Given the description of an element on the screen output the (x, y) to click on. 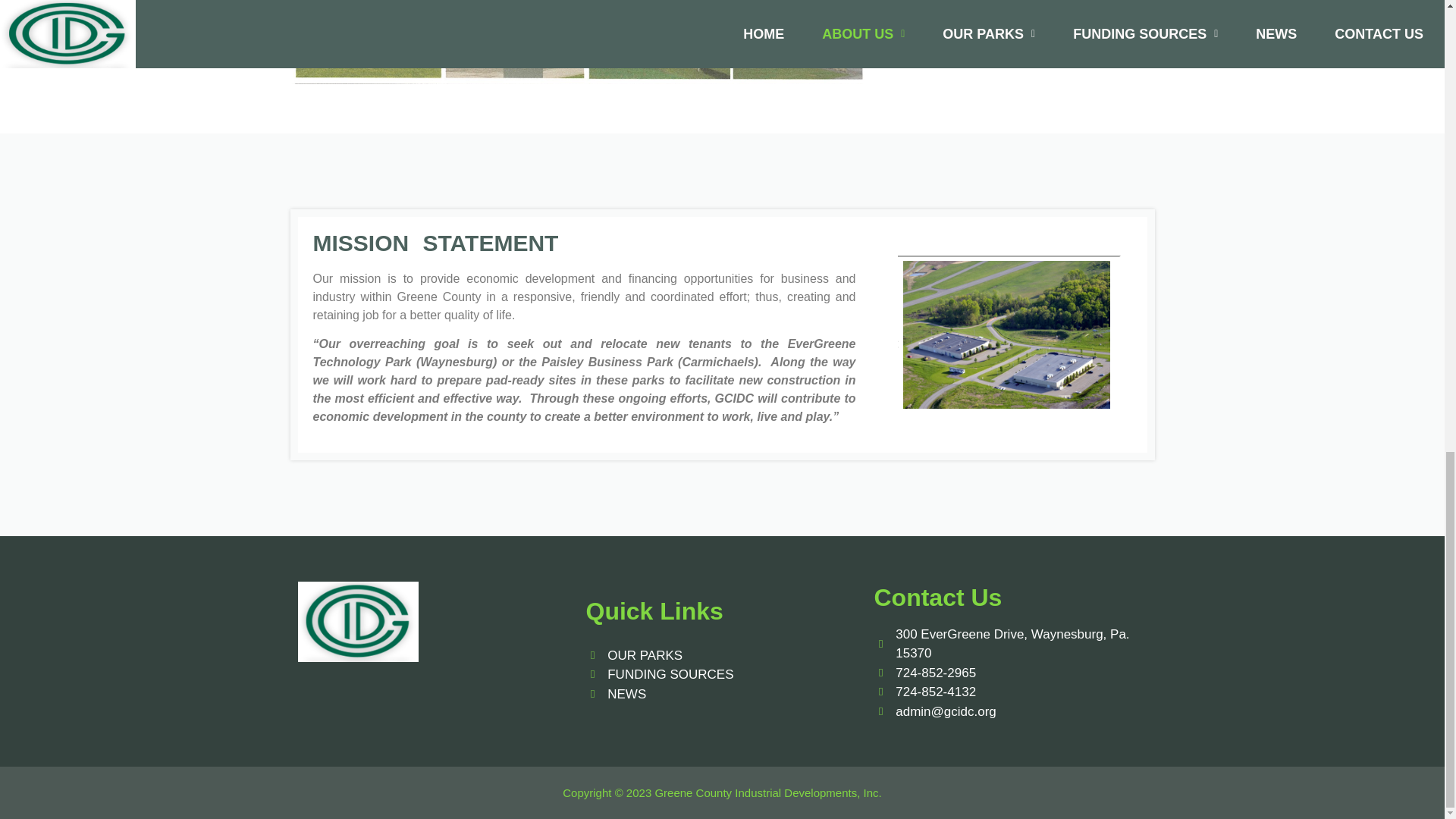
Page 5 (577, 42)
